Given the description of an element on the screen output the (x, y) to click on. 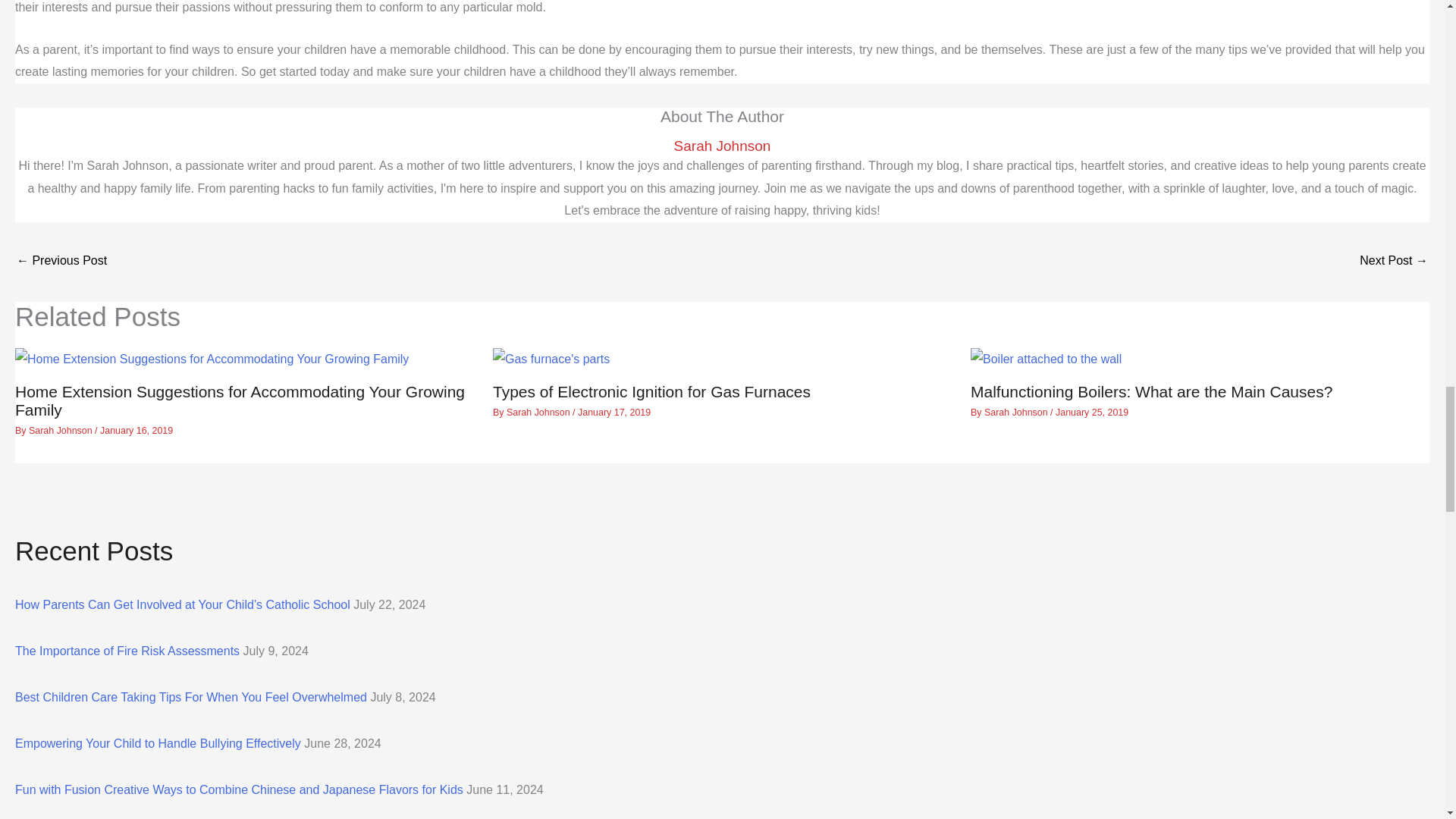
View all posts by Sarah Johnson (61, 430)
Sarah Johnson (1016, 412)
Shyness Among Children and Teenagers: Self-Esteem or Looks? (1393, 262)
Sarah Johnson (61, 430)
Sarah Johnson (721, 146)
Malfunctioning Boilers: What are the Main Causes? (1151, 391)
Sarah Johnson (539, 412)
Best Children Care Taking Tips For When You Feel Overwhelmed (190, 697)
Using Technology for Home Maintenance (61, 262)
View all posts by Sarah Johnson (539, 412)
Types of Electronic Ignition for Gas Furnaces (651, 391)
The Importance of Fire Risk Assessments (127, 650)
Empowering Your Child to Handle Bullying Effectively (157, 743)
